Given the description of an element on the screen output the (x, y) to click on. 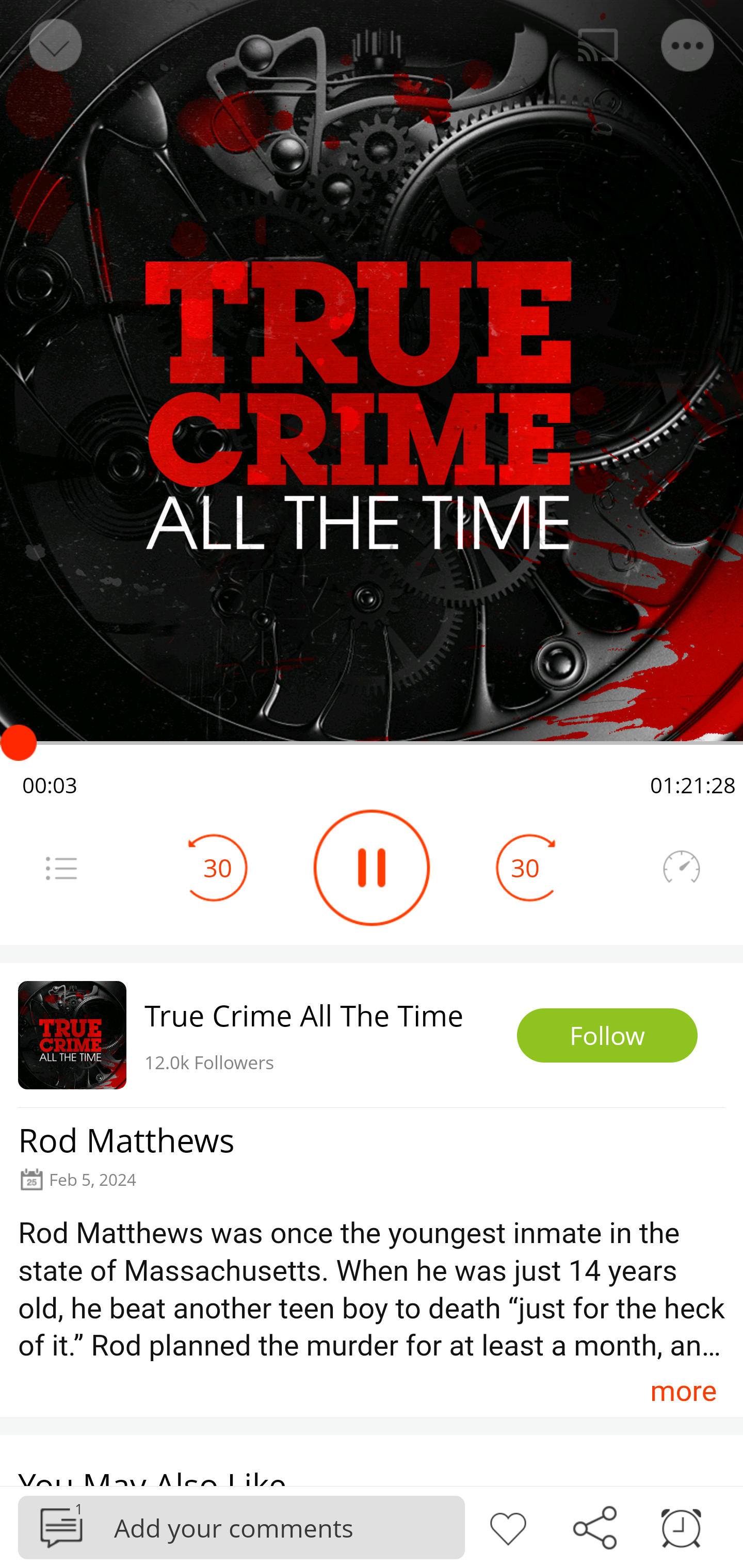
Back (53, 45)
Cast. Disconnected (597, 45)
Menu (688, 45)
Play (371, 867)
30 Seek Backward (217, 867)
30 Seek Forward (525, 867)
Menu (60, 867)
Speedometer (681, 867)
True Crime All The Time 12.0k Followers Follow (371, 1034)
Follow (607, 1035)
more (682, 1390)
Like (508, 1526)
Share (594, 1526)
Sleep timer (681, 1526)
Podbean 1 Add your comments (241, 1526)
